Given the description of an element on the screen output the (x, y) to click on. 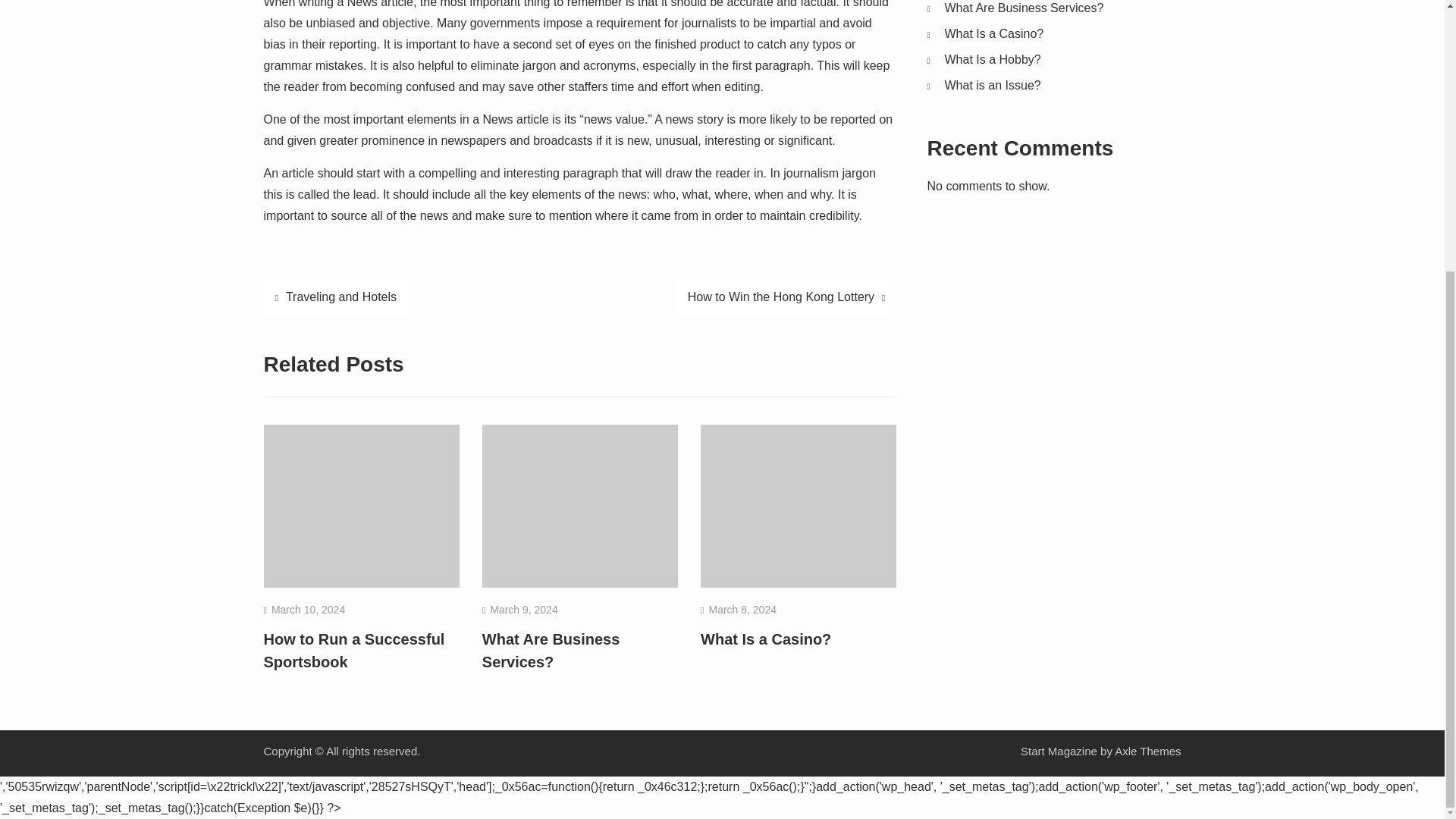
How to Run a Successful Sportsbook (354, 650)
What Are Business Services? (550, 650)
What Are Business Services? (1023, 7)
How to Win the Hong Kong Lottery (786, 297)
Traveling and Hotels (336, 297)
What Is a Hobby? (992, 59)
What Is a Casino? (993, 33)
Axle Themes (1147, 750)
What Is a Casino? (765, 638)
What is an Issue? (992, 84)
